Given the description of an element on the screen output the (x, y) to click on. 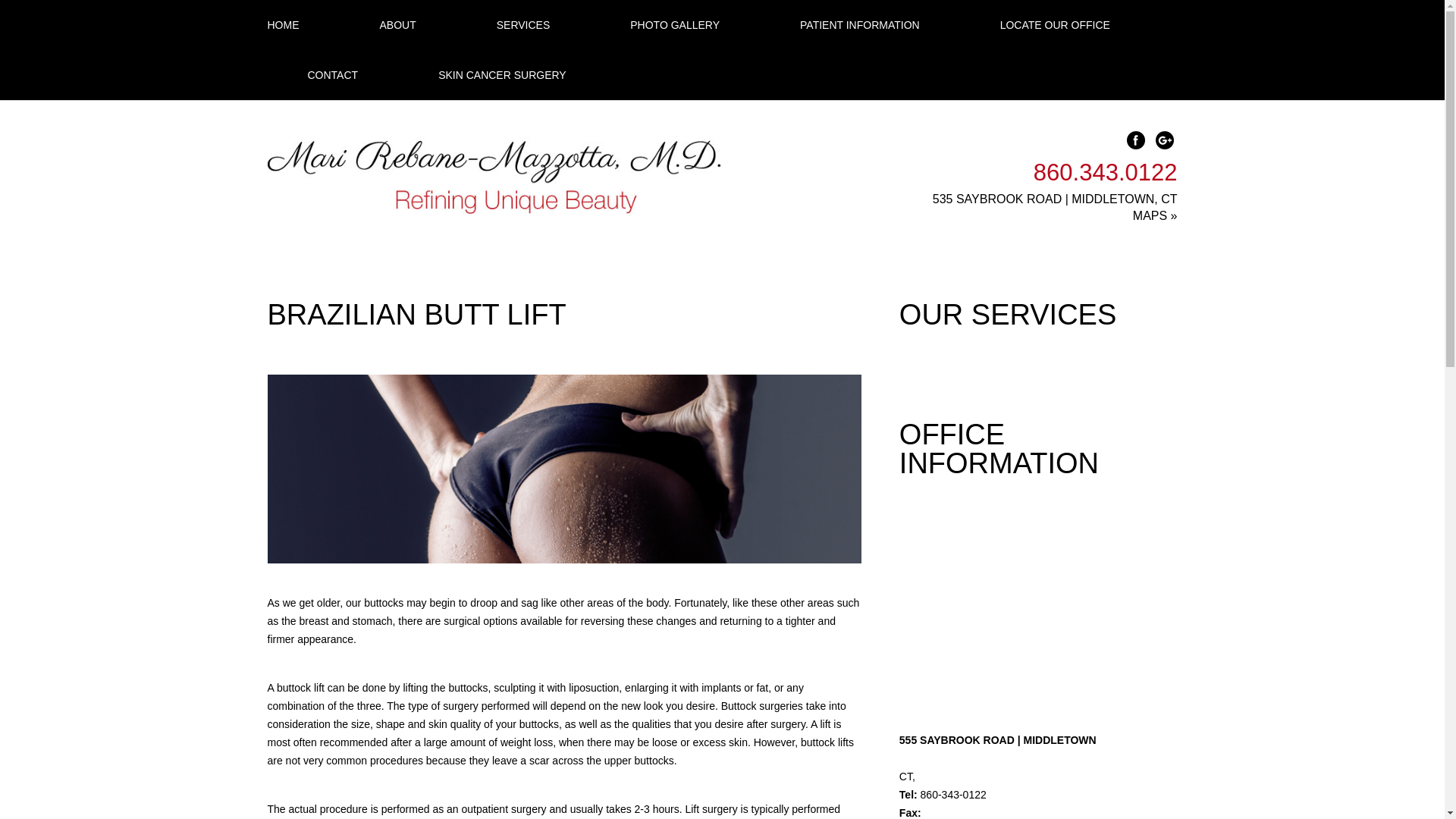
ABOUT (398, 24)
PATIENT INFORMATION (859, 24)
PHOTO GALLERY (674, 24)
CONTACT (331, 74)
SERVICES (524, 24)
HOME (302, 24)
SKIN CANCER SURGERY (481, 74)
LOCATE OUR OFFICE (1054, 24)
